Given the description of an element on the screen output the (x, y) to click on. 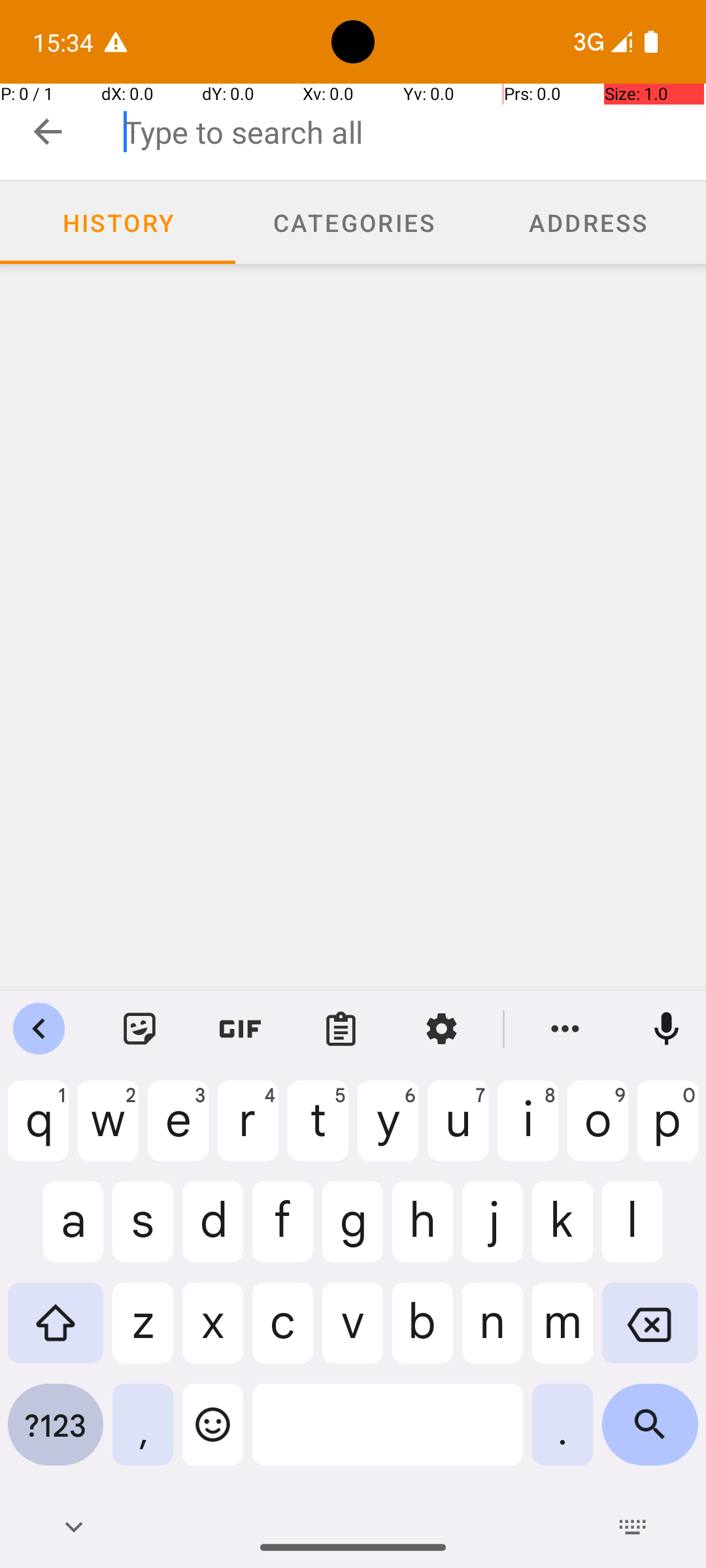
Type to search all Element type: android.widget.EditText (414, 131)
History Element type: android.widget.LinearLayout (117, 222)
Address Element type: android.widget.LinearLayout (588, 222)
HISTORY Element type: android.widget.TextView (117, 222)
CATEGORIES Element type: android.widget.TextView (352, 222)
ADDRESS Element type: android.widget.TextView (587, 222)
